Given the description of an element on the screen output the (x, y) to click on. 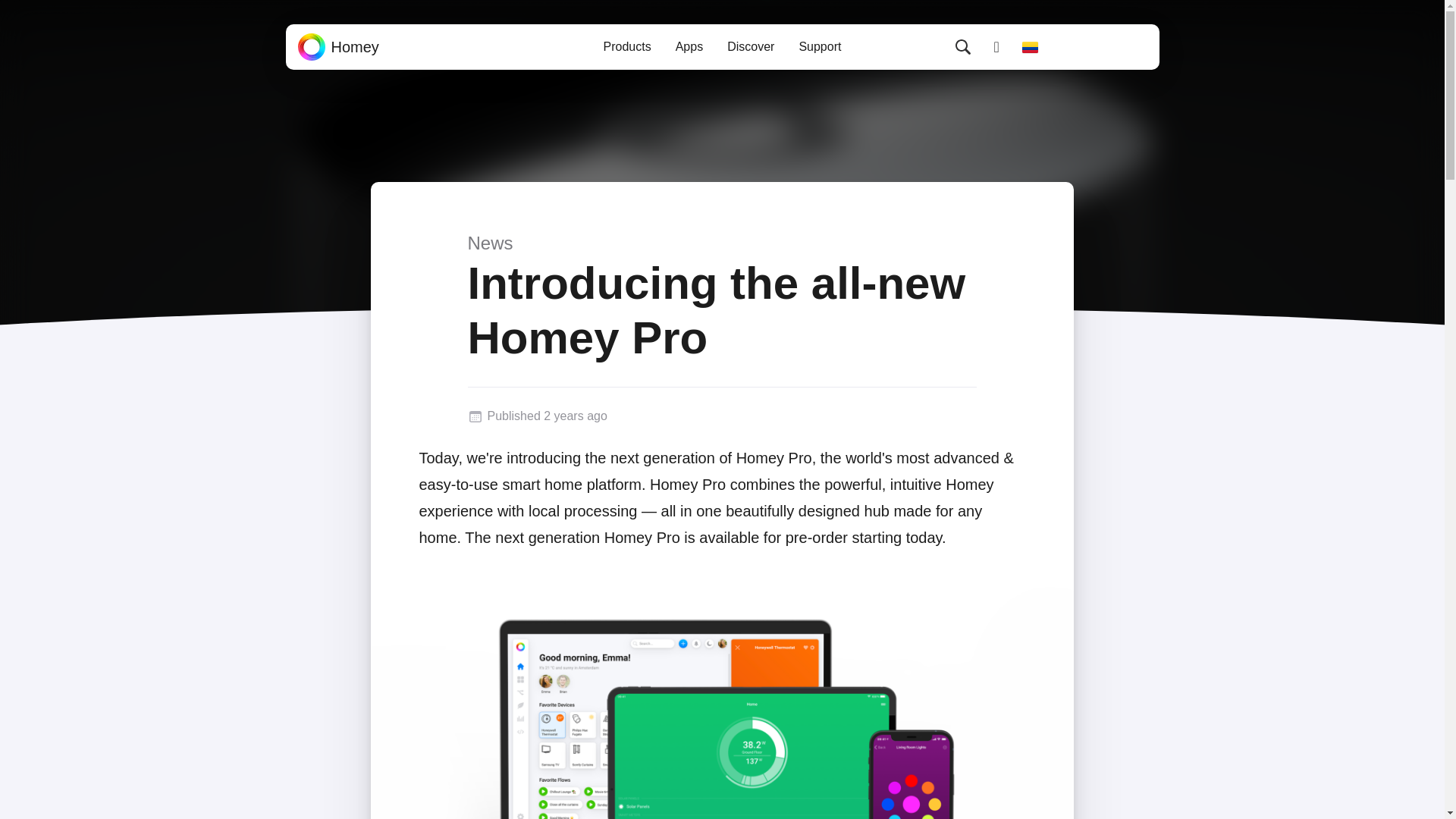
Choose your country (1029, 46)
Search (962, 46)
Discover (750, 46)
Start for Free (1101, 46)
Apps (688, 46)
Homey (337, 46)
Products (627, 46)
Support (819, 46)
Login (996, 46)
Home (337, 46)
